Given the description of an element on the screen output the (x, y) to click on. 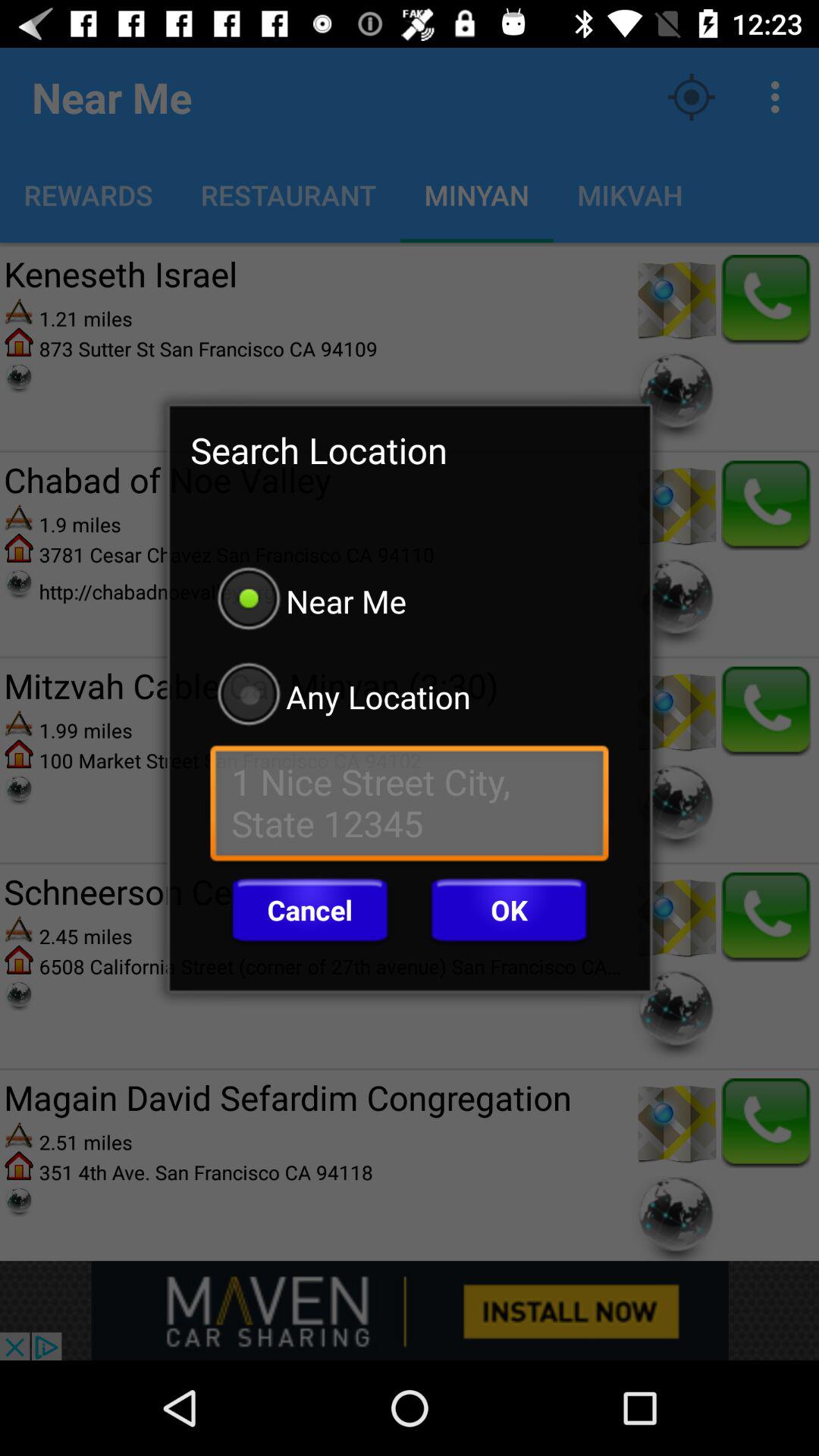
open the icon next to ok (309, 909)
